Given the description of an element on the screen output the (x, y) to click on. 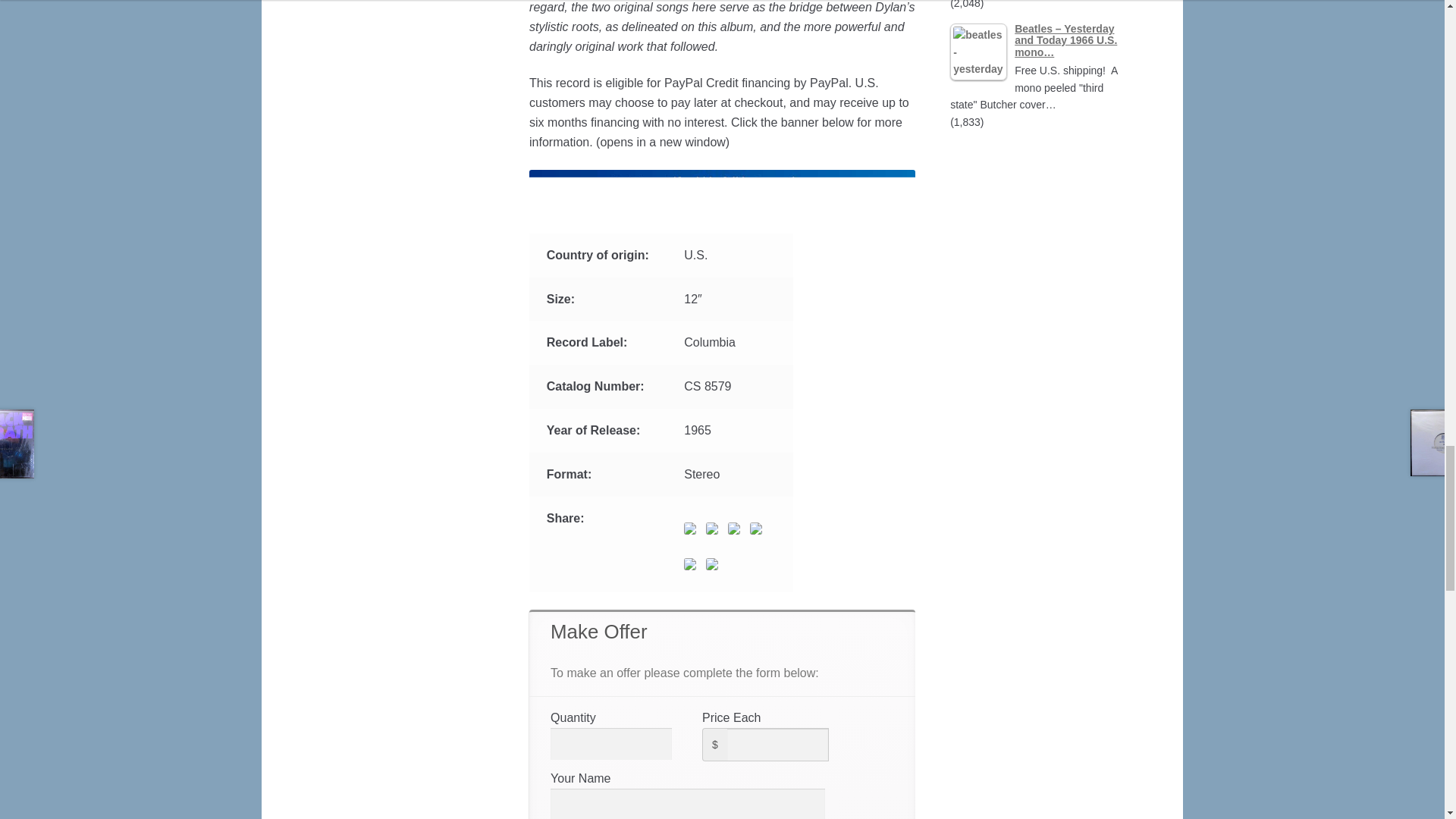
Share on Reddit (736, 531)
Share on Linkedin (689, 563)
Share on Facebook (689, 528)
Share on Facebook (692, 531)
Share on Linkedin (692, 566)
Pin it with Pinterest (758, 531)
Share on Reddit (733, 528)
Pin it with Pinterest (755, 528)
Share on Twitter (711, 528)
Share on Twitter (714, 531)
